Given the description of an element on the screen output the (x, y) to click on. 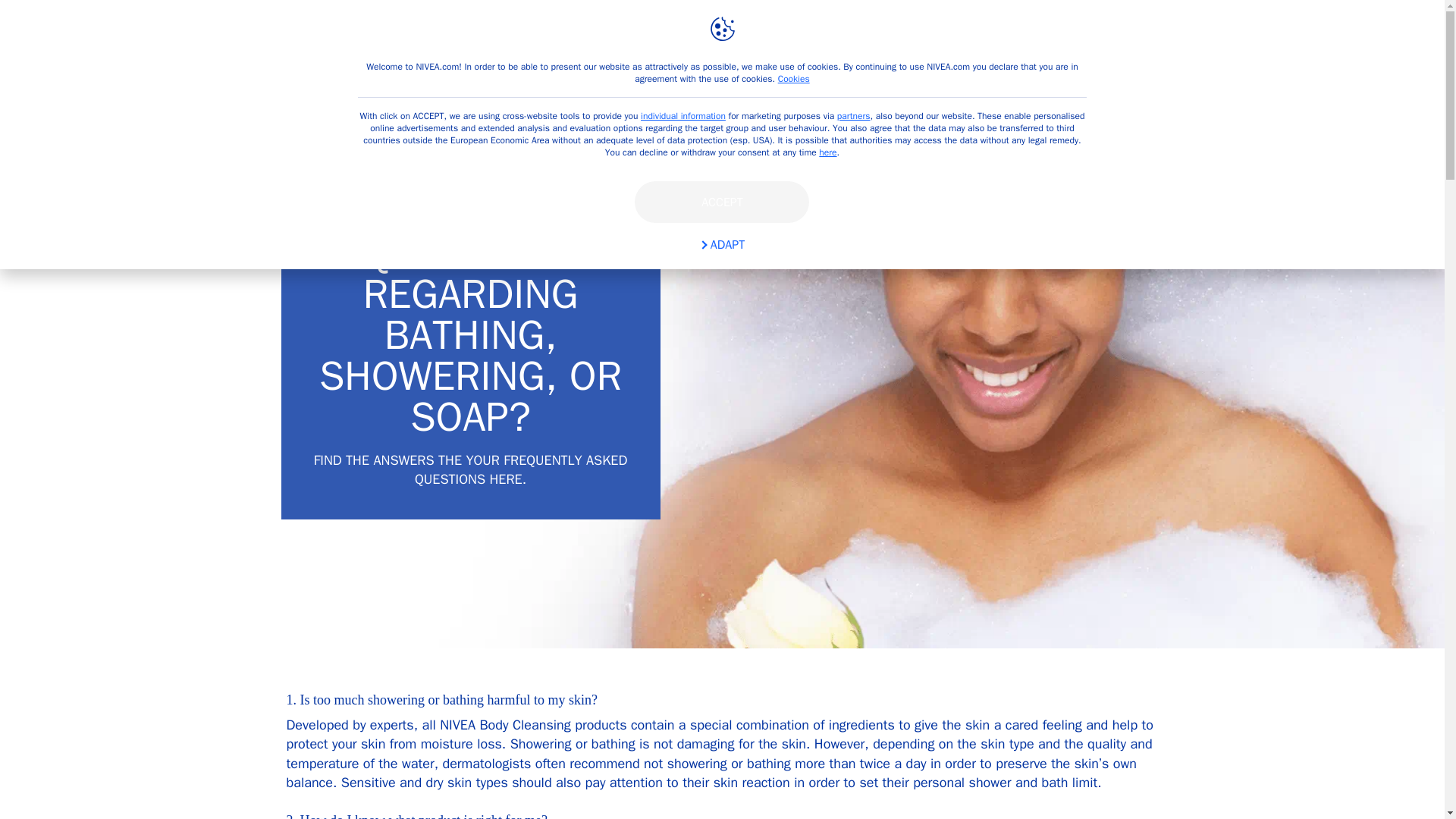
Products (439, 32)
ACCEPT (721, 201)
SKINCARE TIPS (538, 32)
individual information (682, 115)
partners (853, 115)
Skincare Tips (538, 32)
here (826, 152)
ADAPT (722, 245)
PRODUCTS (439, 32)
logo (331, 32)
HIGHLIGHTS (640, 32)
Cookies (793, 78)
